Given the description of an element on the screen output the (x, y) to click on. 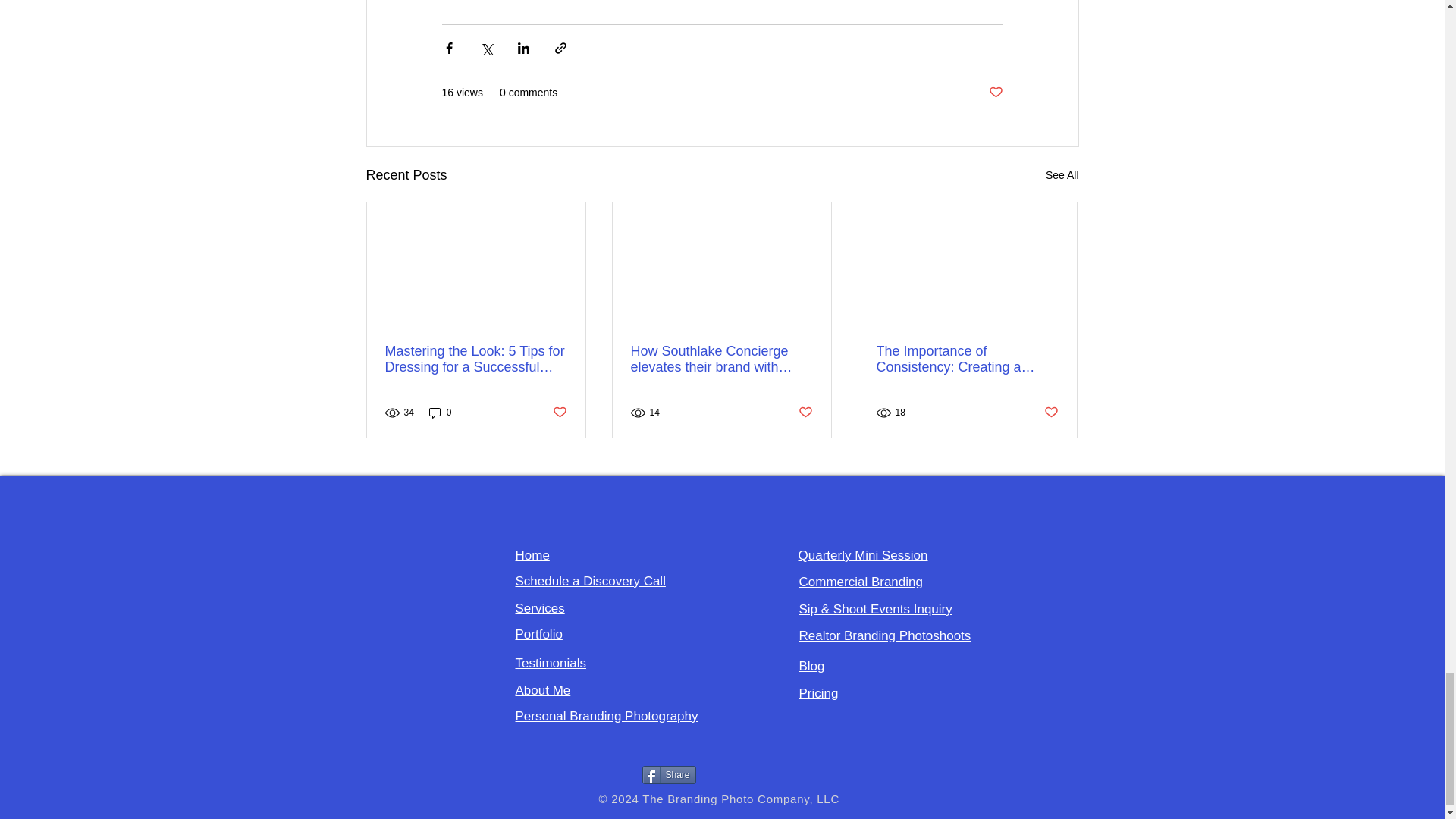
Personal Branding Photography (606, 716)
Schedule a Discovery Call (590, 581)
Pricing (818, 693)
Commercial Branding (861, 581)
Quarterly Mini Session (862, 554)
Testimonials (550, 663)
Post not marked as liked (1050, 412)
About Me (542, 690)
Post not marked as liked (558, 412)
